Given the description of an element on the screen output the (x, y) to click on. 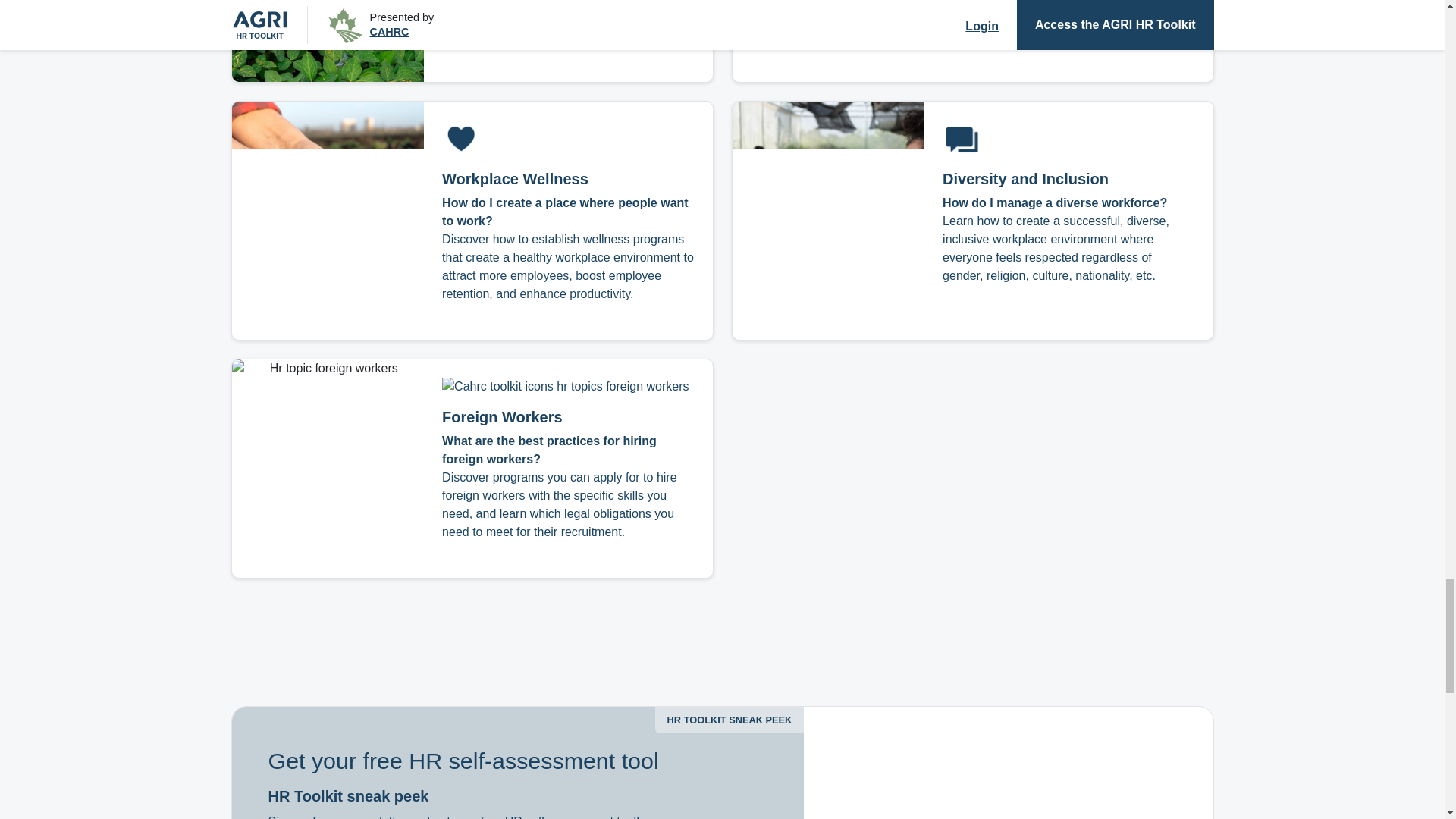
YouTube video player (1007, 762)
